Given the description of an element on the screen output the (x, y) to click on. 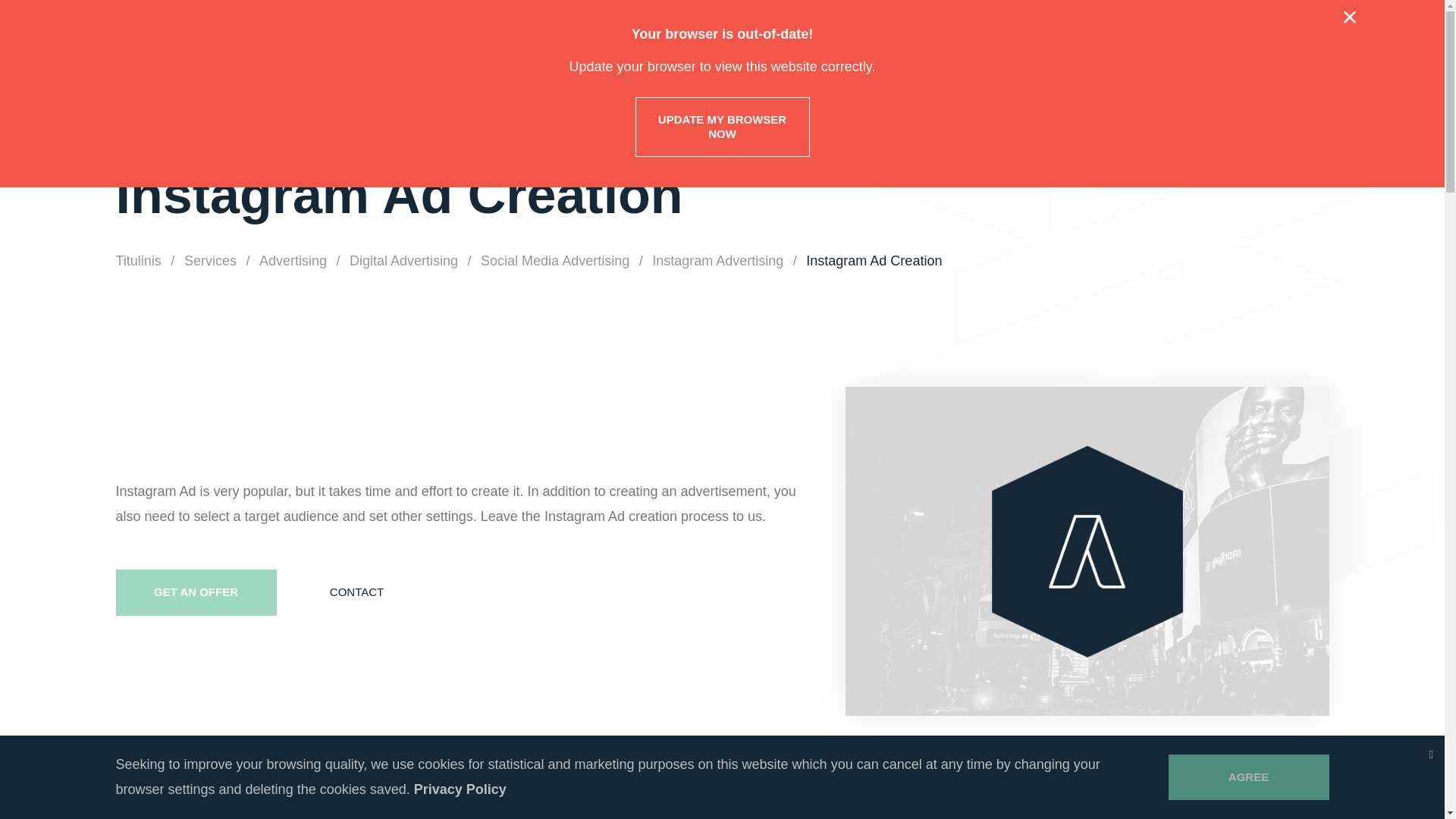
LT (1321, 33)
SERVICES (866, 67)
Titulinis (137, 260)
GET AN OFFER (195, 592)
STORE (1179, 67)
Services (866, 67)
HOME (680, 67)
ABOUT US (767, 67)
EN (1289, 33)
Digital Advertising (403, 260)
Social Media Advertising (554, 260)
CONTACT (356, 592)
GET AN OFFER (1284, 67)
CAREER (1077, 67)
Advertising (292, 260)
